Given the description of an element on the screen output the (x, y) to click on. 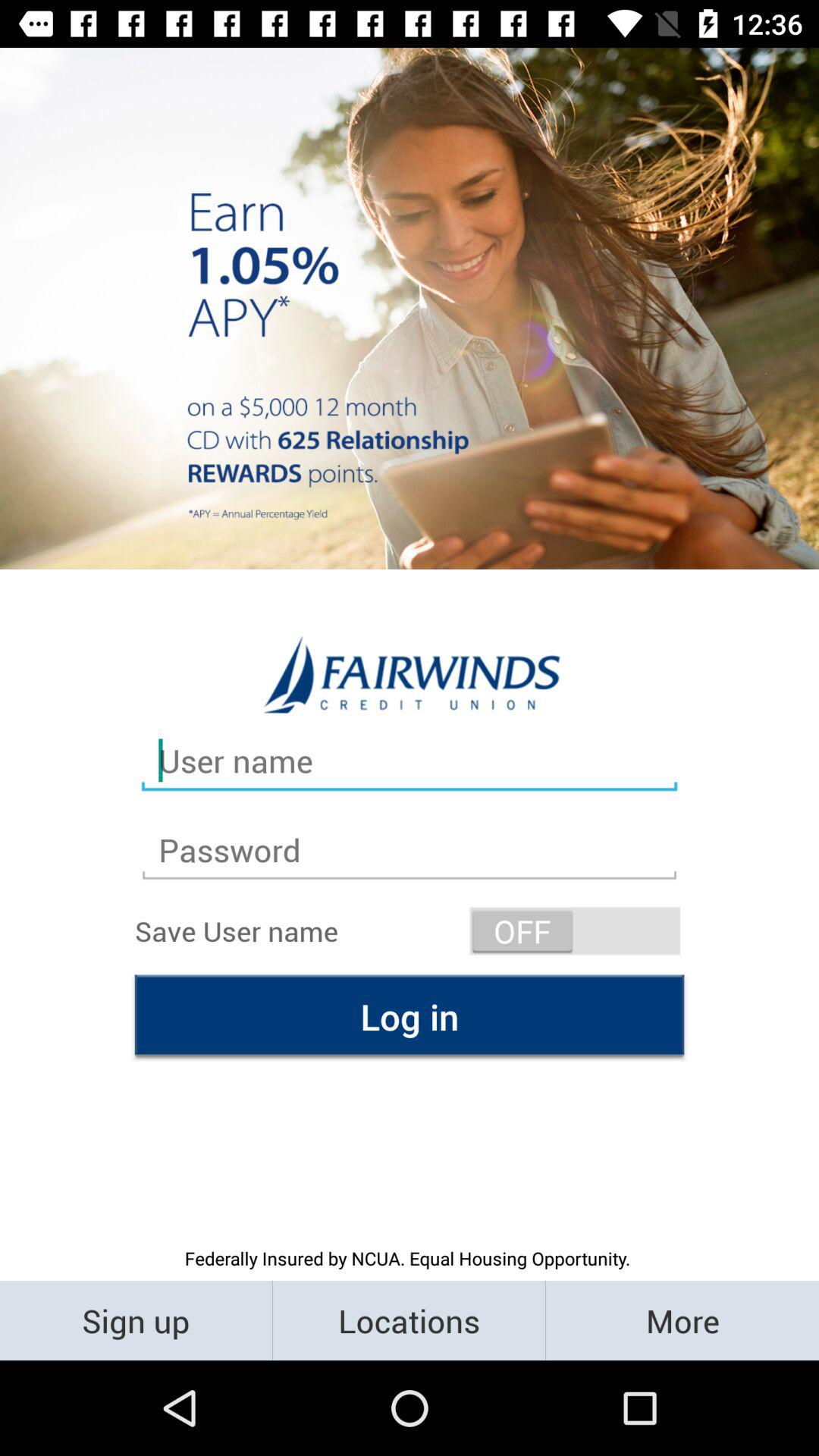
launch the icon next to the save user name item (574, 930)
